Given the description of an element on the screen output the (x, y) to click on. 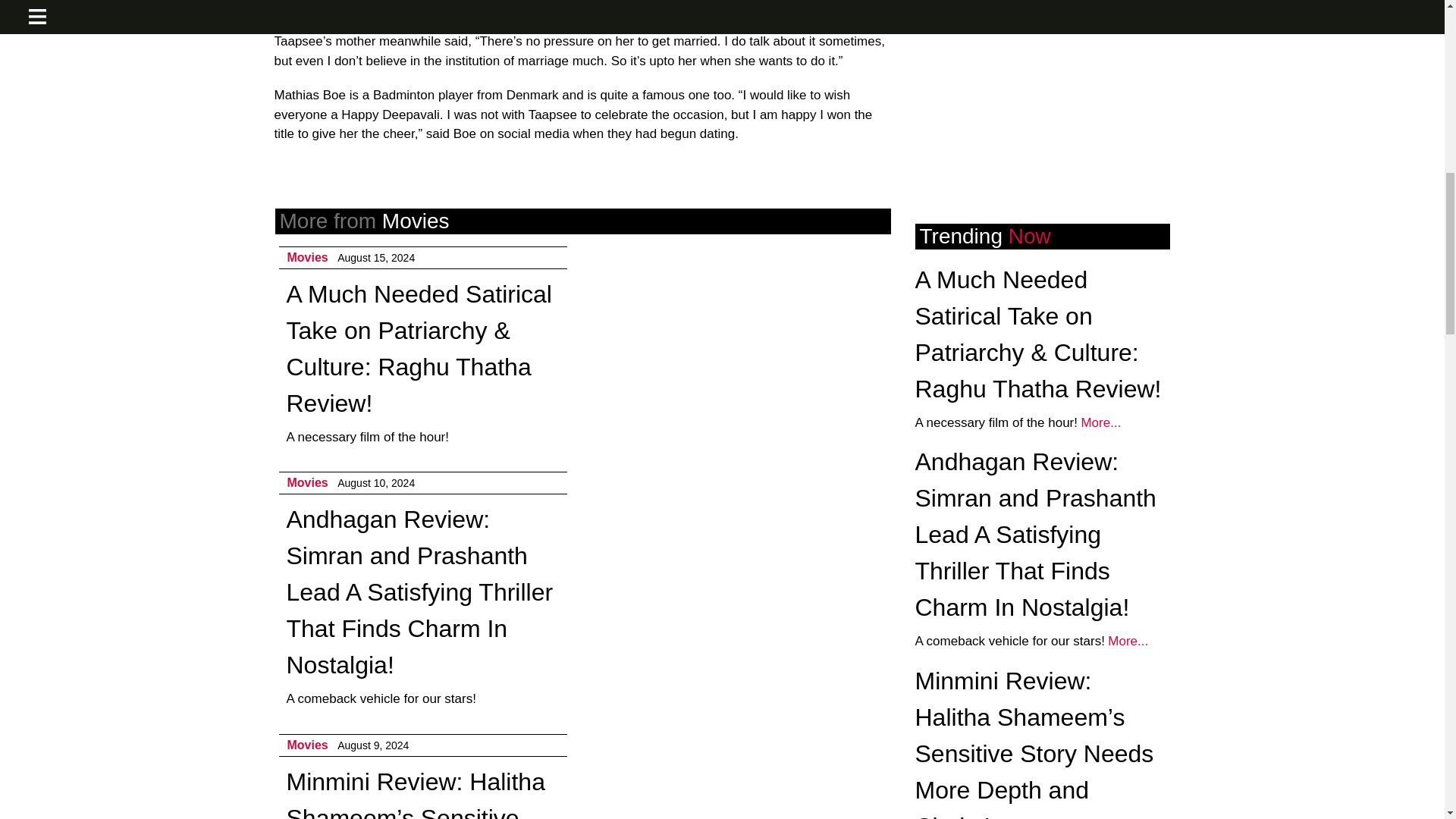
Movies (306, 744)
Movies (306, 256)
Movies (306, 481)
